Given the description of an element on the screen output the (x, y) to click on. 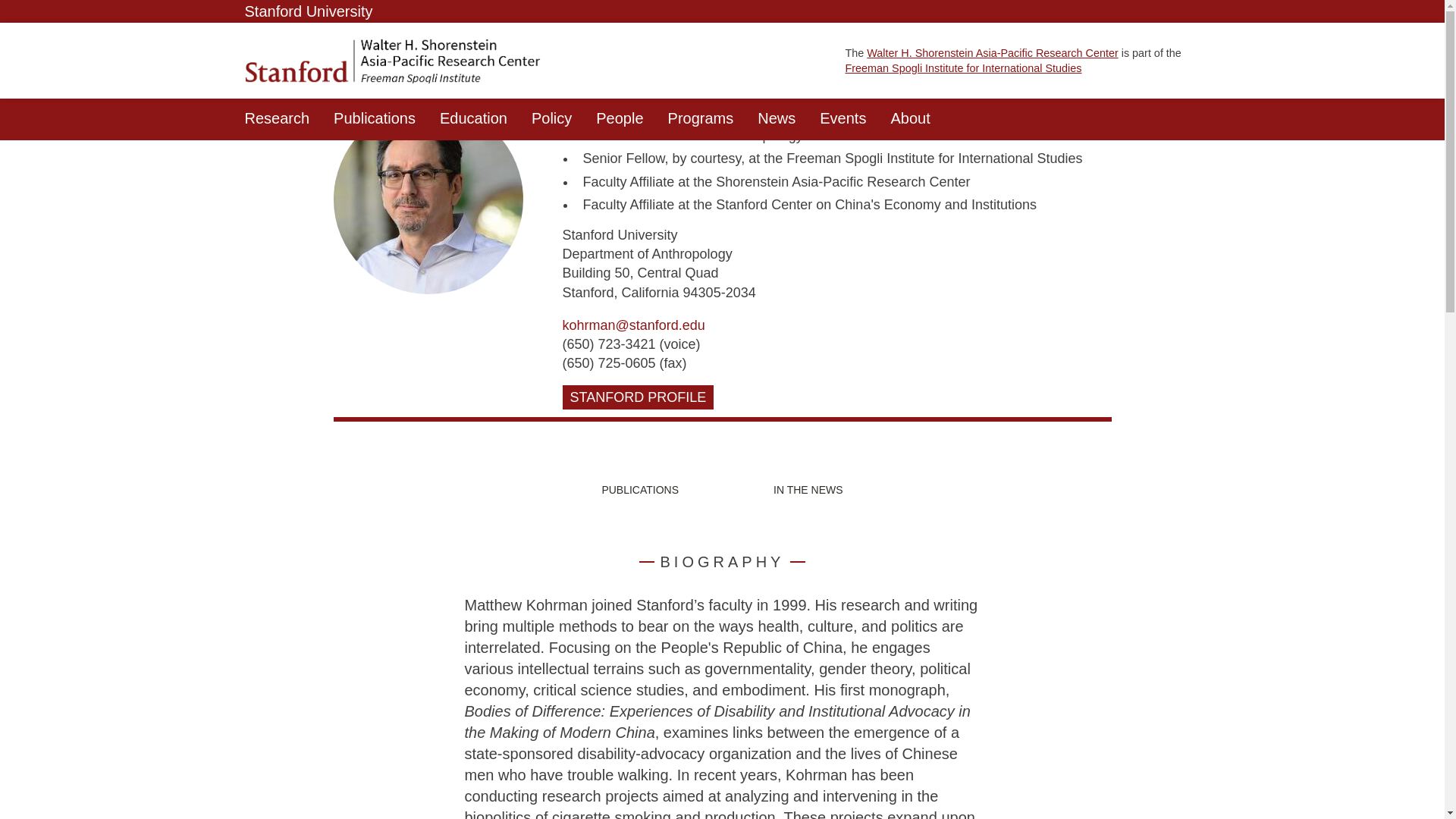
Search (1185, 122)
People (619, 118)
Programs (700, 118)
Education (473, 118)
Policy (551, 118)
IN THE NEWS (808, 489)
News (776, 118)
Publications (374, 118)
Walter H. Shorenstein Asia-Pacific Research Center (992, 52)
Freeman Spogli Institute for International Studies (962, 68)
